Given the description of an element on the screen output the (x, y) to click on. 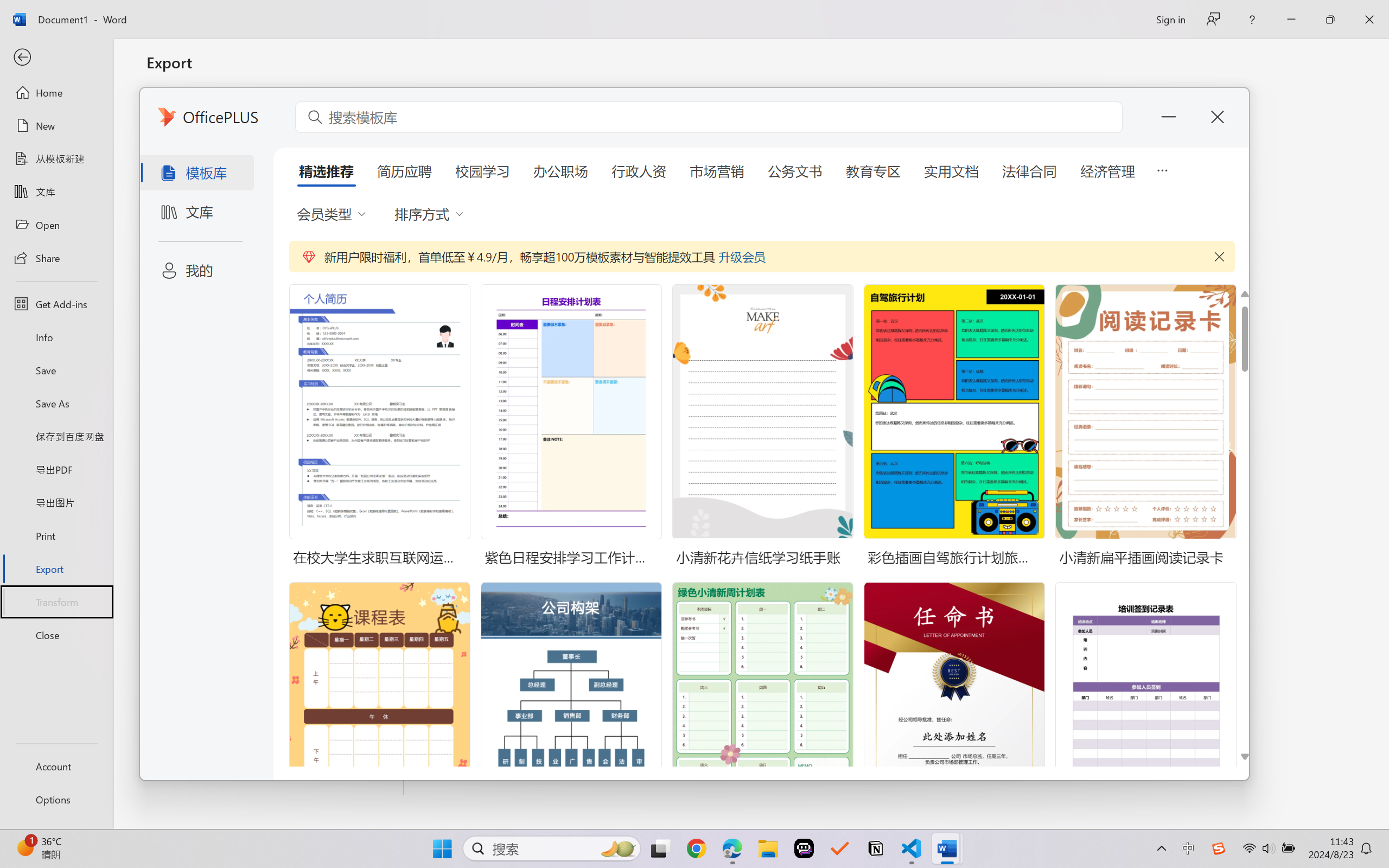
Sign in (1170, 18)
Create PDF/XPS (464, 216)
Get Add-ins (56, 303)
Account (56, 765)
